Given the description of an element on the screen output the (x, y) to click on. 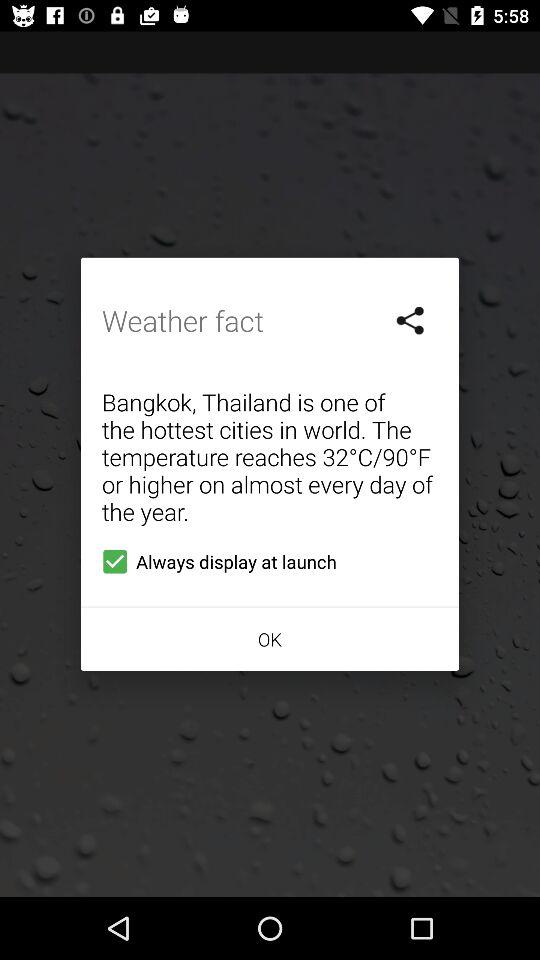
turn on item to the right of weather fact item (411, 320)
